Given the description of an element on the screen output the (x, y) to click on. 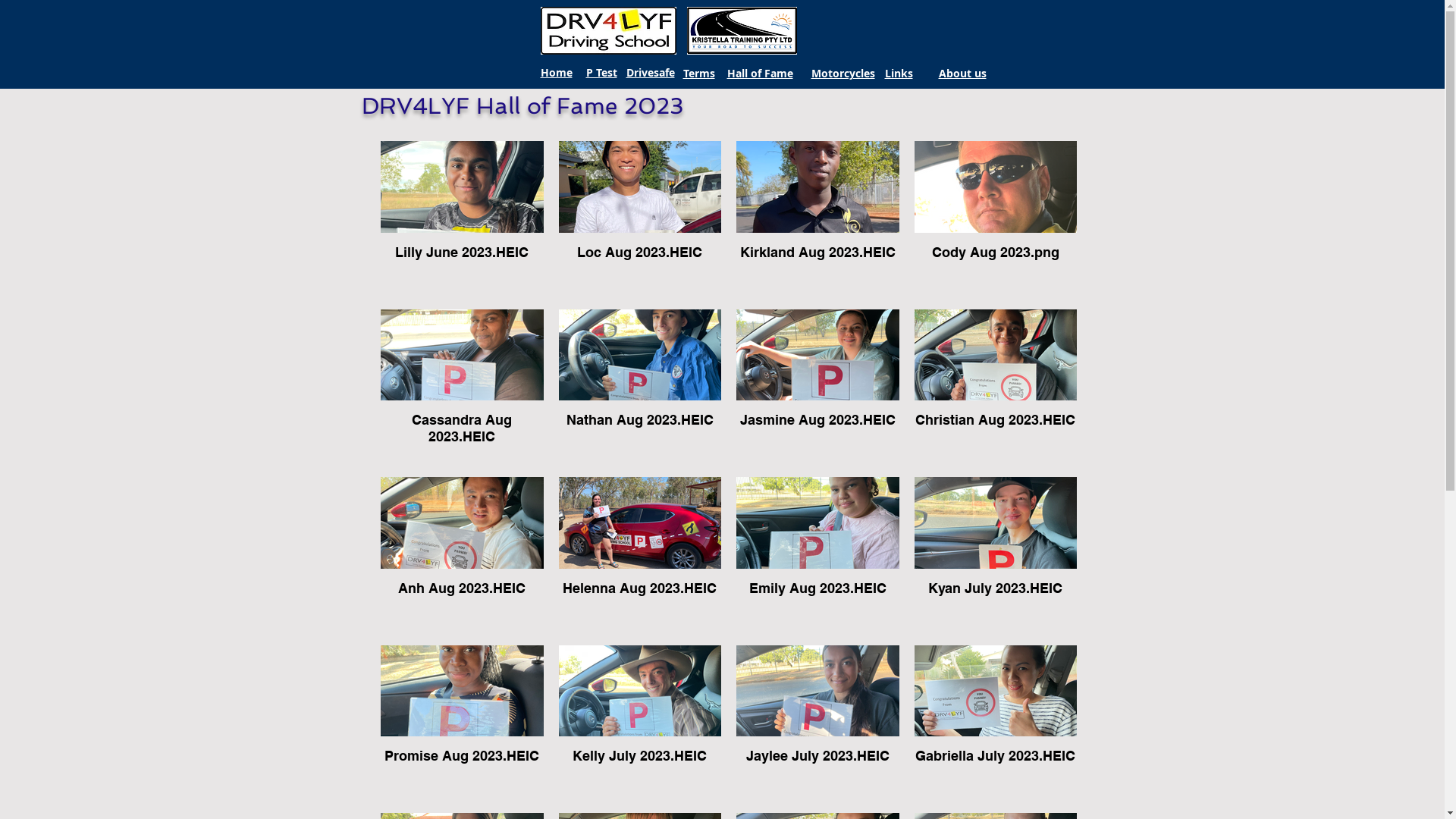
Links Element type: text (898, 72)
Hall of Fame Element type: text (759, 72)
Terms Element type: text (698, 72)
P Test Element type: text (600, 72)
Home Element type: text (555, 72)
About us Element type: text (962, 72)
Drivesafe Element type: text (650, 72)
DRV4LYF.jpg Element type: hover (607, 30)
Motorcycles Element type: text (843, 72)
